Given the description of an element on the screen output the (x, y) to click on. 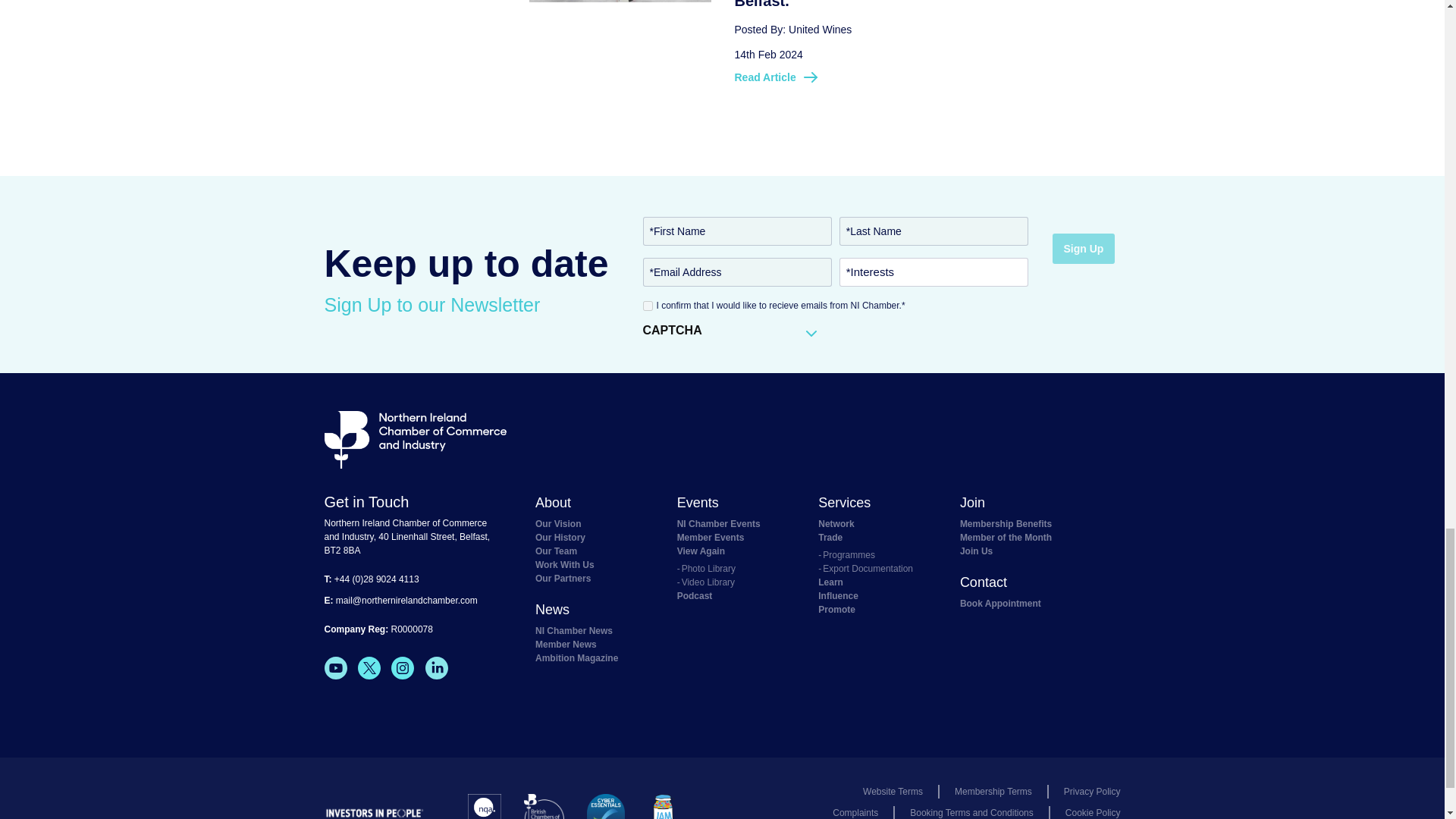
1 (647, 305)
